Given the description of an element on the screen output the (x, y) to click on. 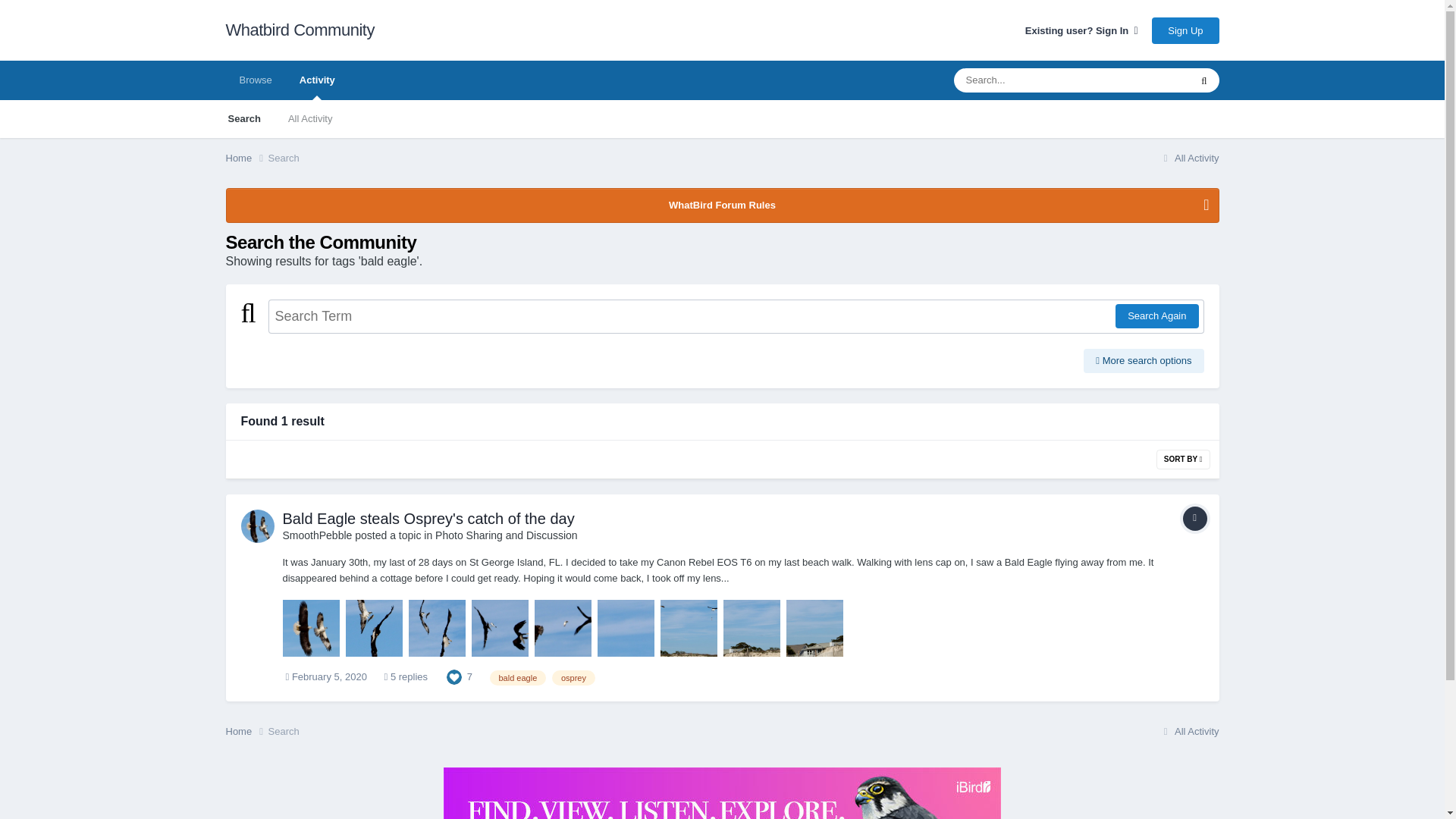
WhatBird Forum Rules (721, 205)
Browse (255, 79)
Home (246, 158)
Find other content tagged with 'osprey' (573, 677)
Search Again (1156, 315)
Topic (1194, 518)
Sign Up (1184, 29)
Go to SmoothPebble's profile (317, 535)
Existing user? Sign In   (1081, 30)
Search (243, 118)
